Given the description of an element on the screen output the (x, y) to click on. 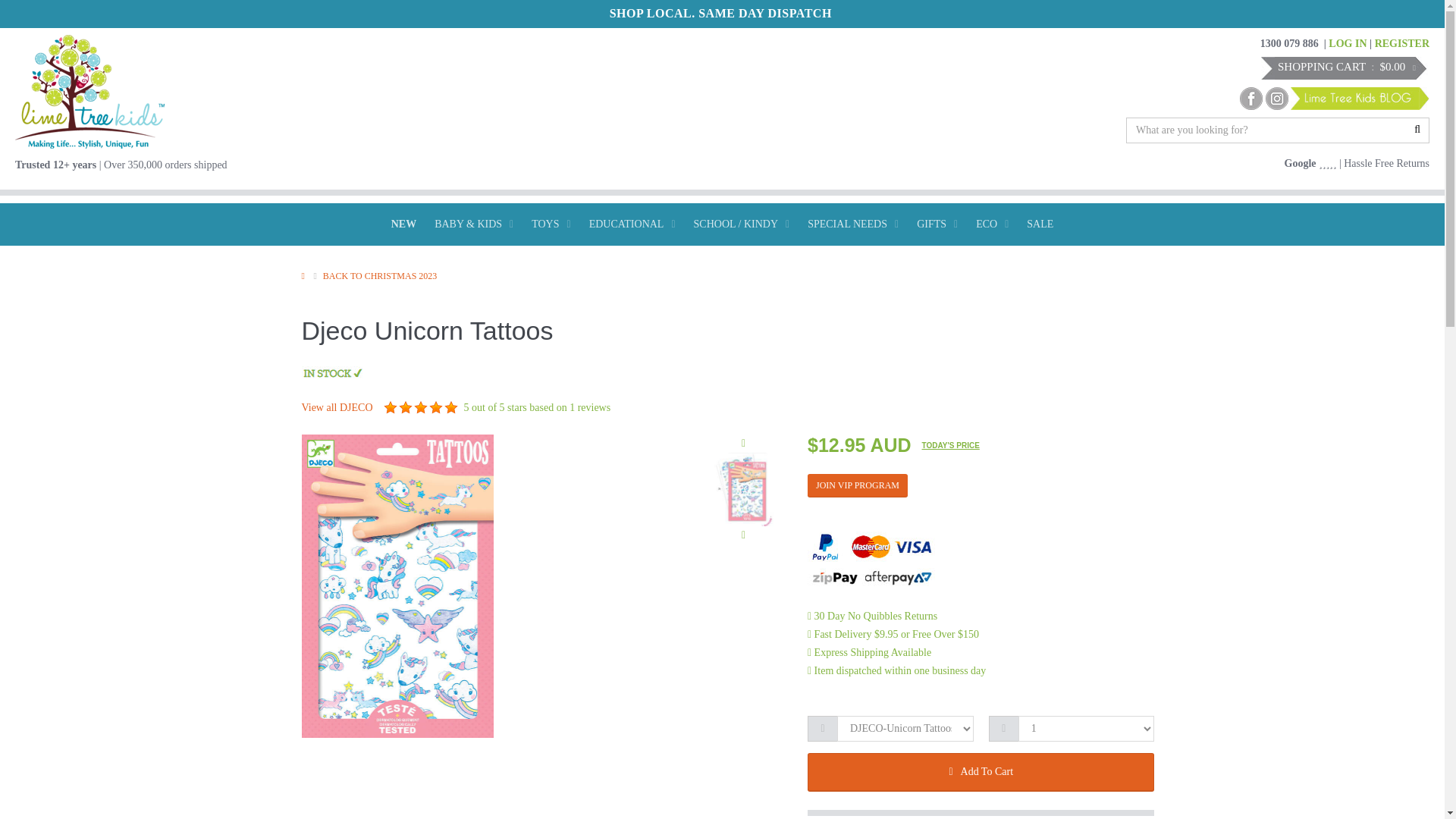
5 (405, 407)
5 (435, 407)
REGISTER (1401, 43)
LOG IN (1347, 43)
5 (420, 407)
5 (451, 407)
5 (390, 407)
NEW (403, 224)
Customer Log In (1347, 43)
